Given the description of an element on the screen output the (x, y) to click on. 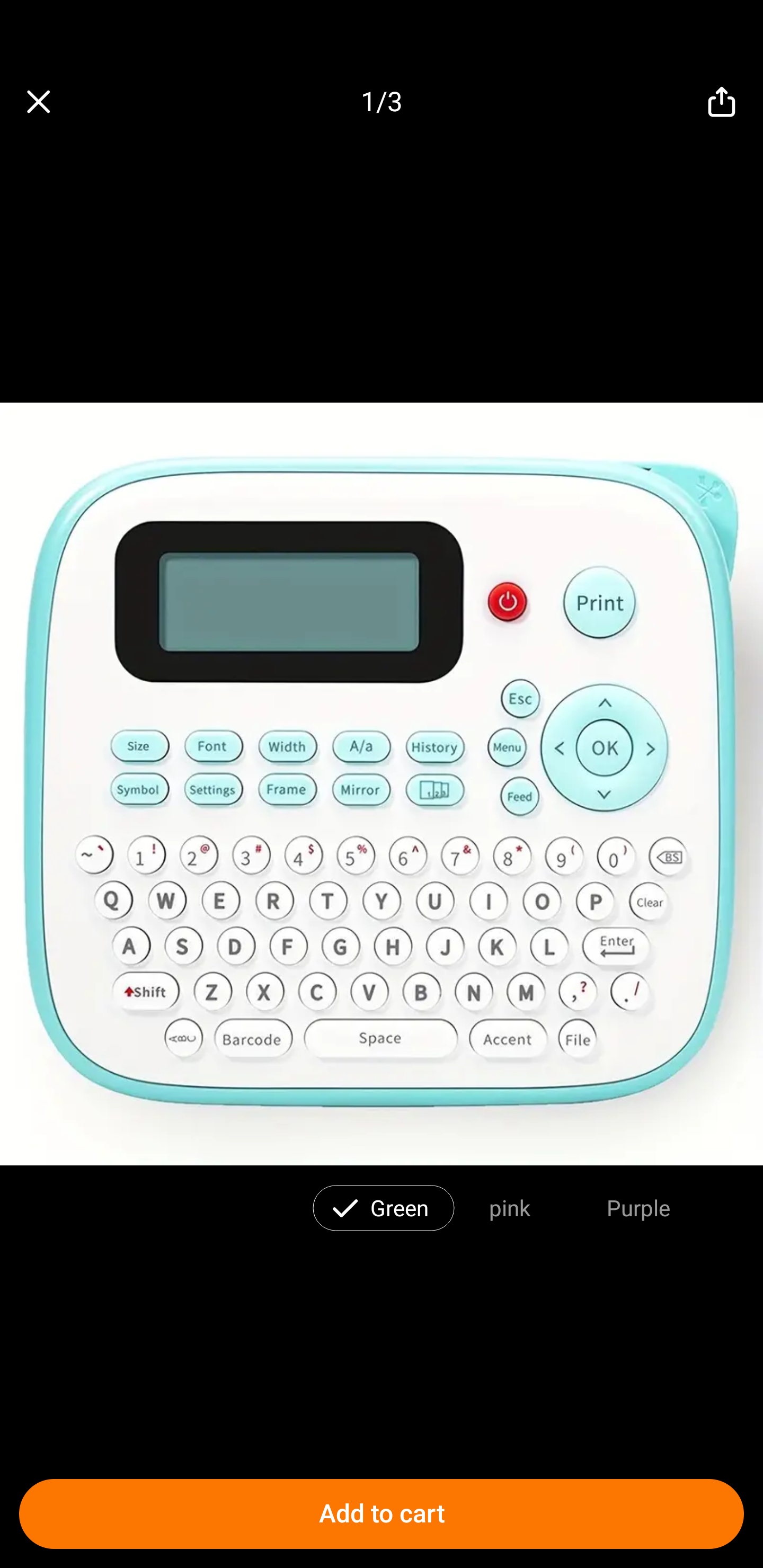
share (721, 101)
Green (399, 1207)
pink (509, 1207)
Purple (637, 1207)
Add to cart (381, 1513)
